Given the description of an element on the screen output the (x, y) to click on. 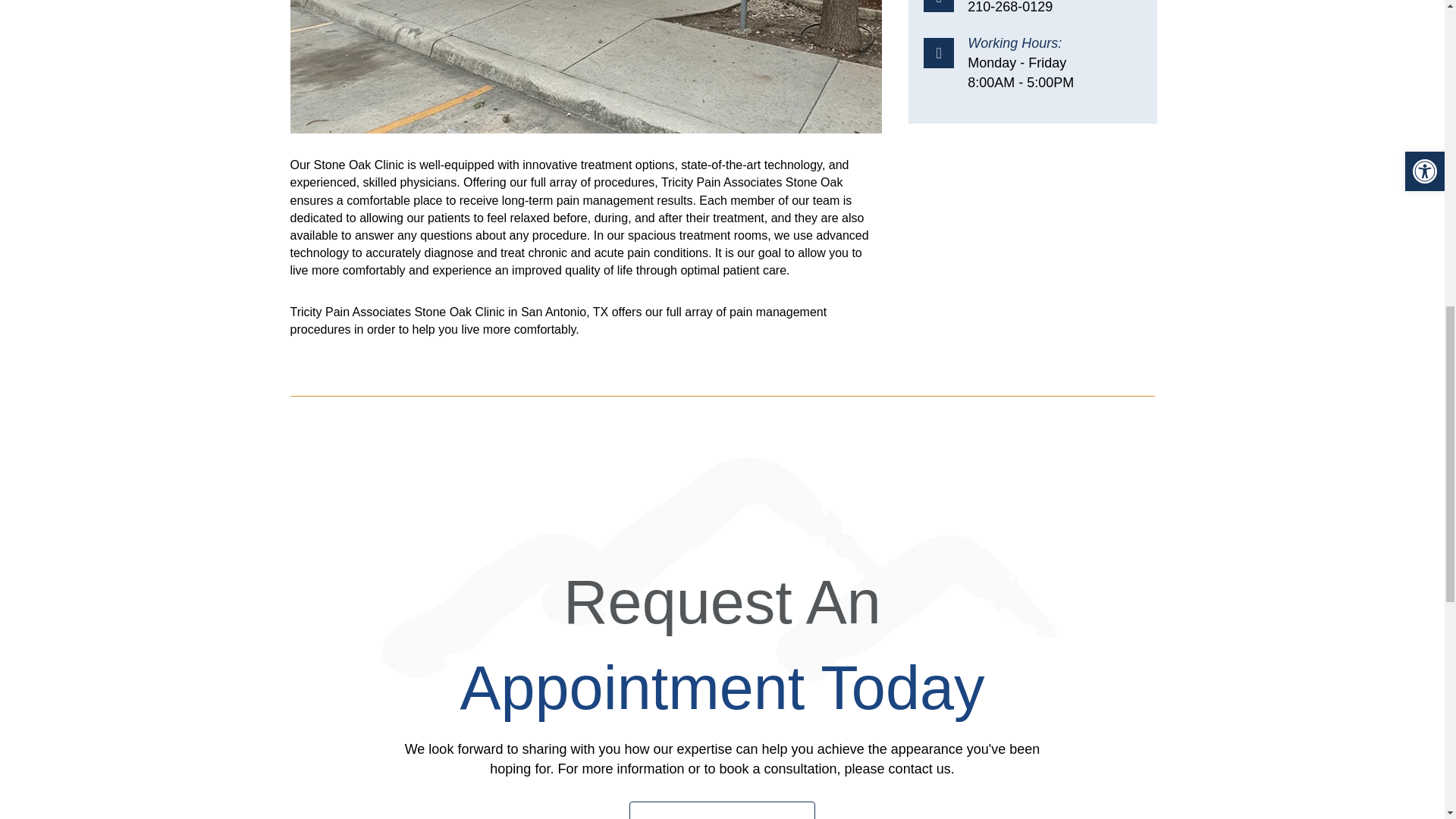
location-8img (585, 67)
